Given the description of an element on the screen output the (x, y) to click on. 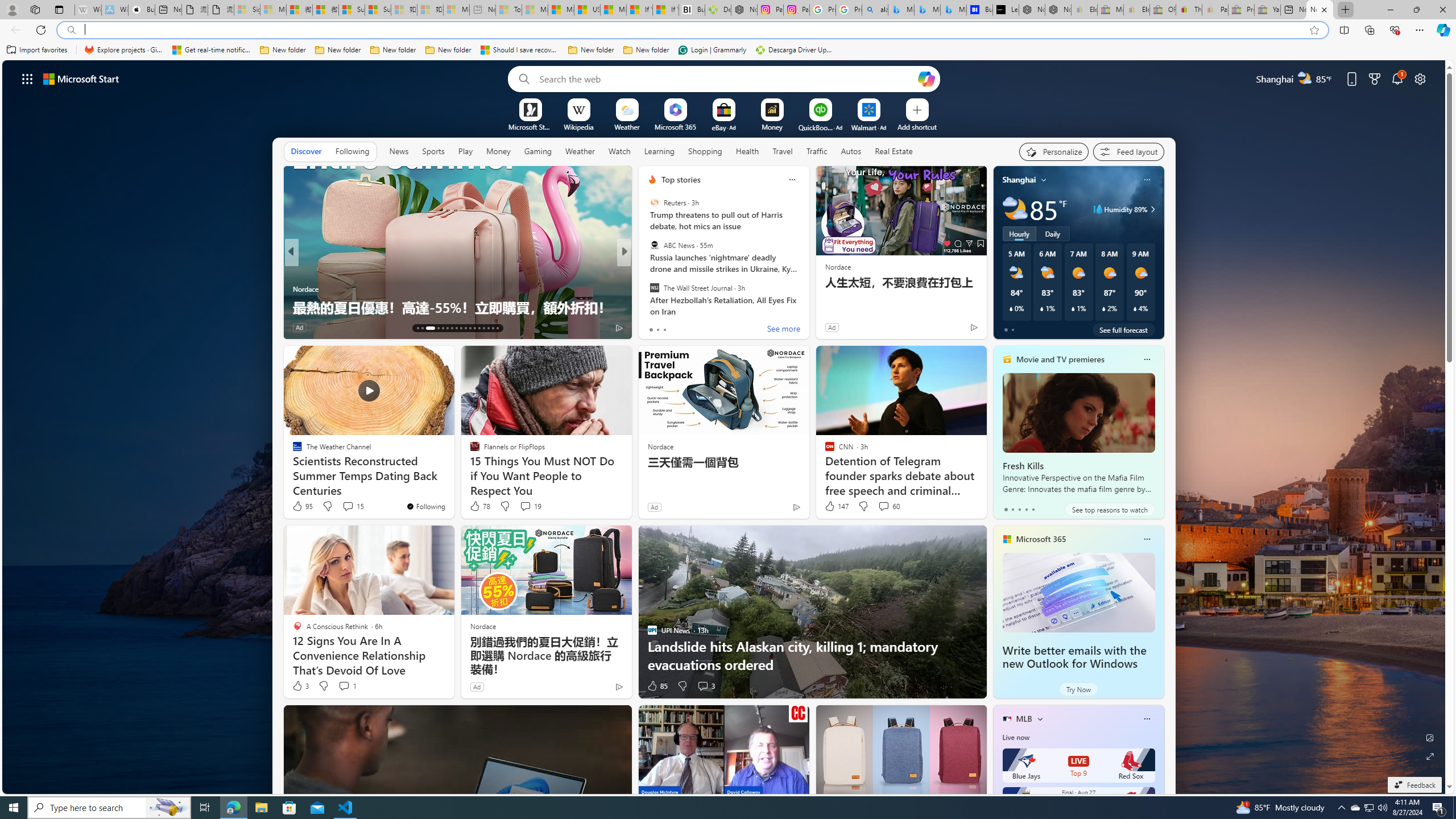
View comments 60 Comment (883, 505)
Class: weather-arrow-glyph (1152, 208)
Gaming (537, 151)
Autos (850, 151)
633 Like (654, 327)
Wikipedia (578, 126)
Yard, Garden & Outdoor Living - Sleeping (1267, 9)
Sports (432, 151)
